Given the description of an element on the screen output the (x, y) to click on. 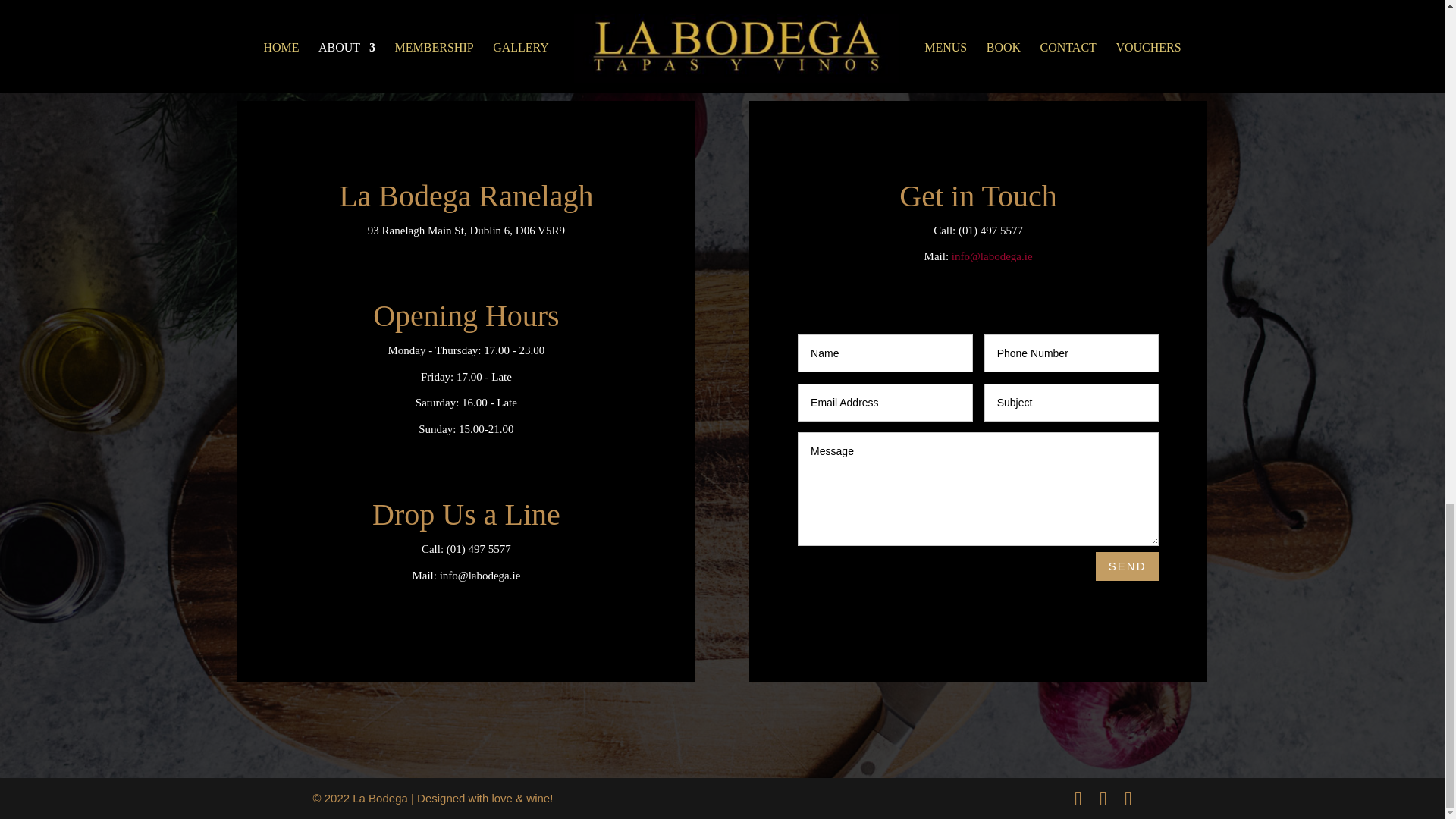
SEND (1127, 566)
